Given the description of an element on the screen output the (x, y) to click on. 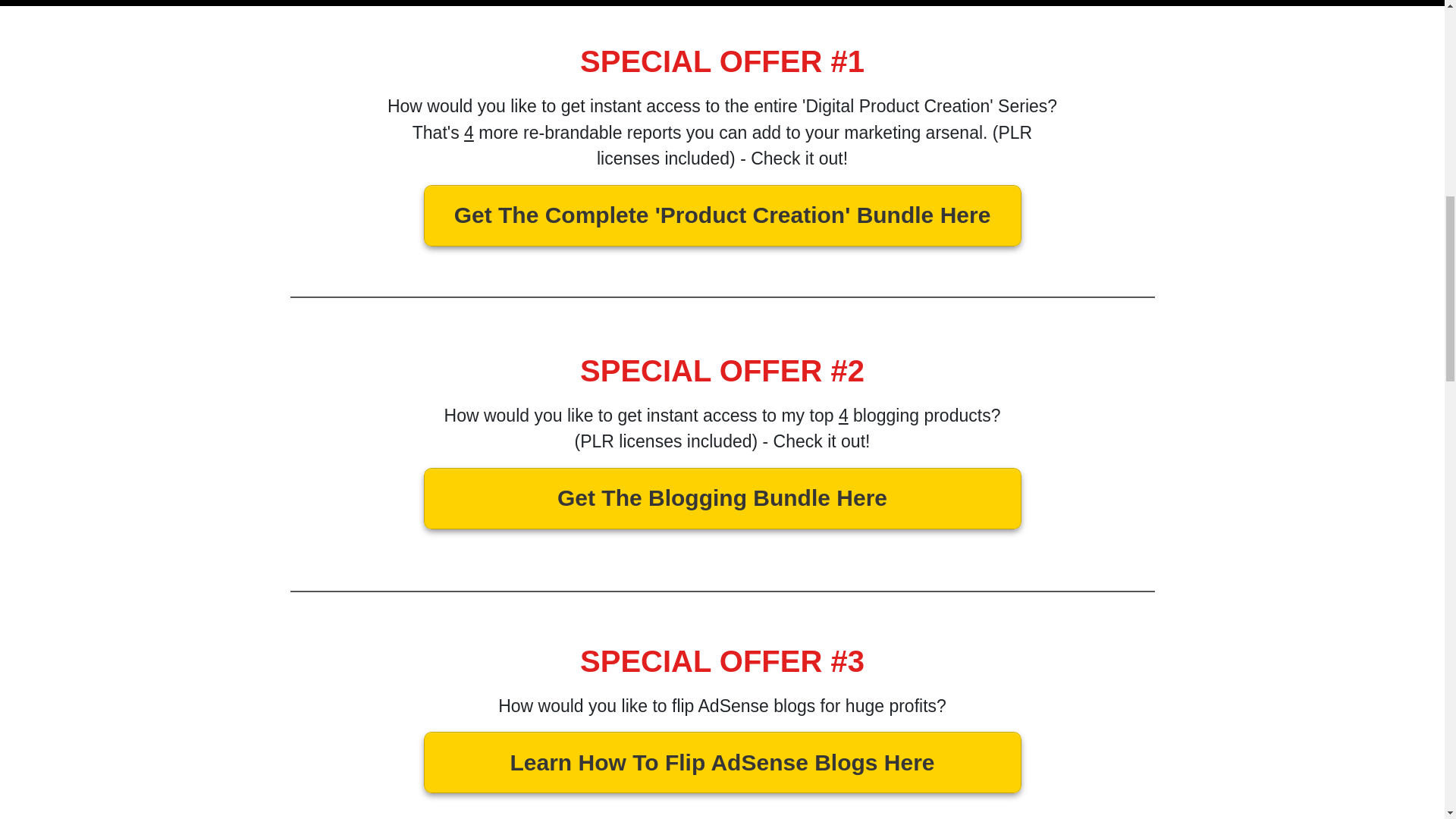
Learn How To Flip AdSense Blogs Here (721, 762)
Get The Blogging Bundle Here (721, 497)
Get The Complete 'Product Creation' Bundle Here (721, 215)
